Given the description of an element on the screen output the (x, y) to click on. 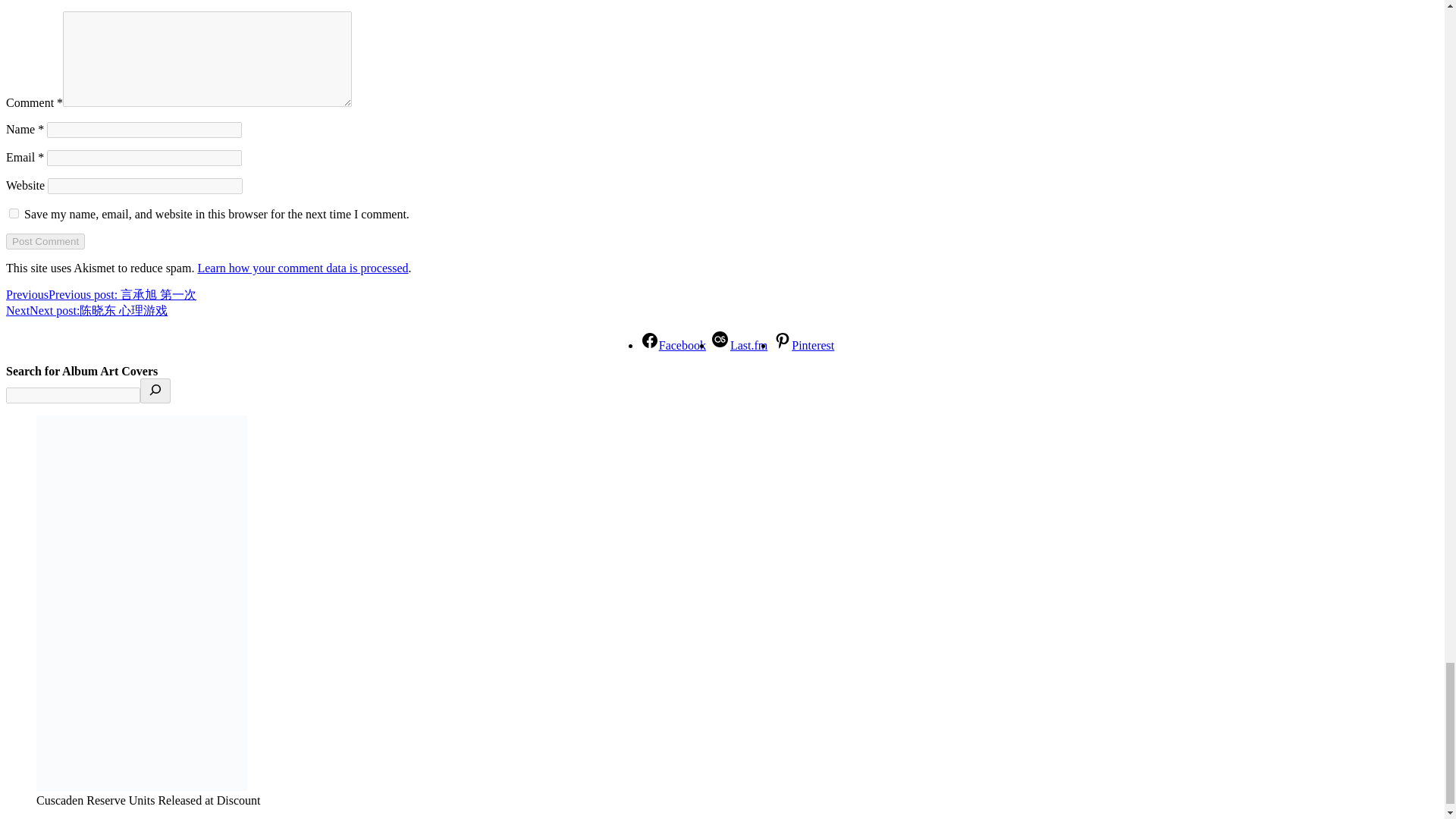
Pinterest (803, 345)
Facebook (673, 345)
yes (13, 213)
Post Comment (44, 241)
Post Comment (44, 241)
Last.fm (739, 345)
Learn how your comment data is processed (301, 267)
